Given the description of an element on the screen output the (x, y) to click on. 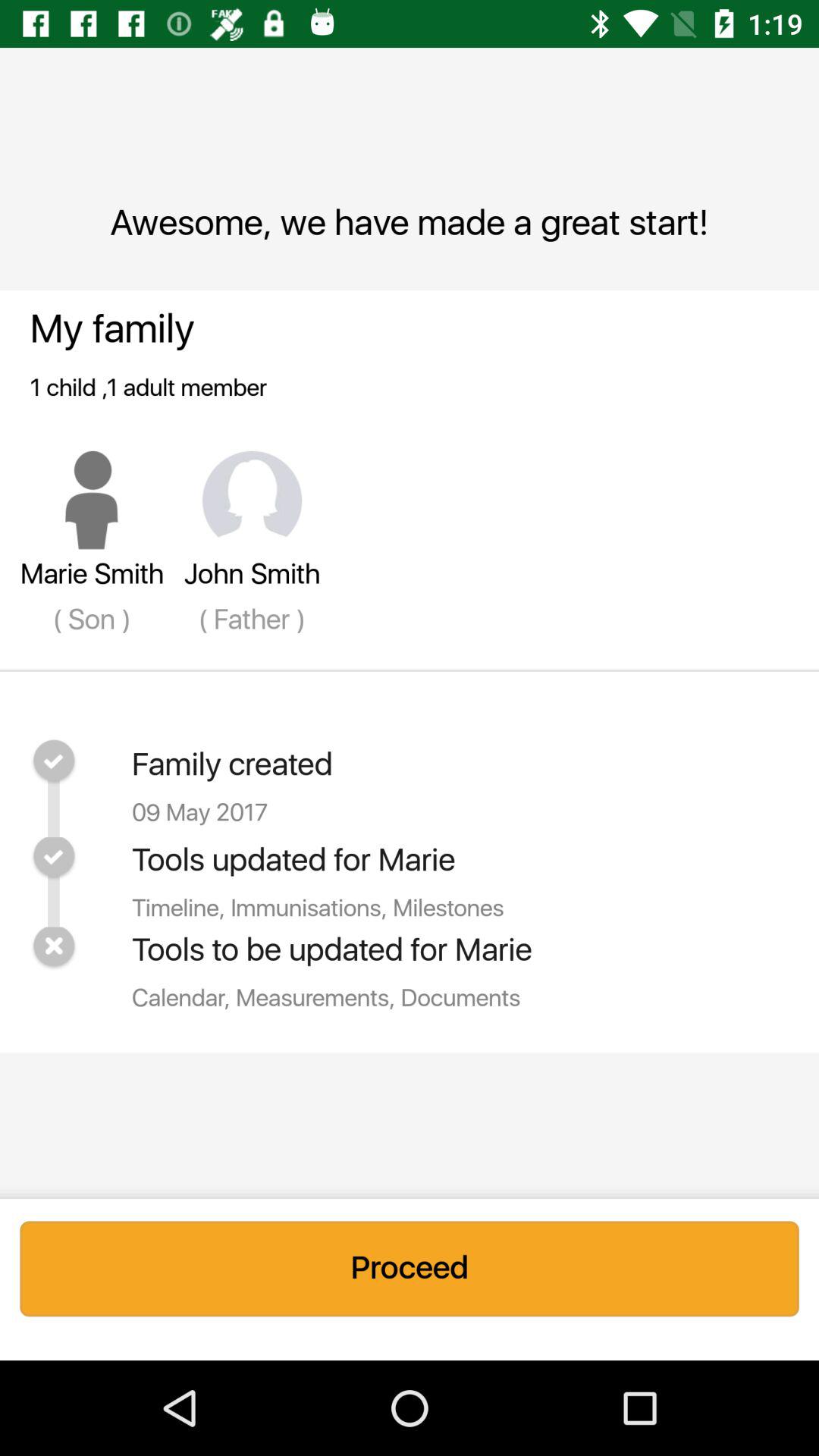
open proceed (409, 1268)
